Given the description of an element on the screen output the (x, y) to click on. 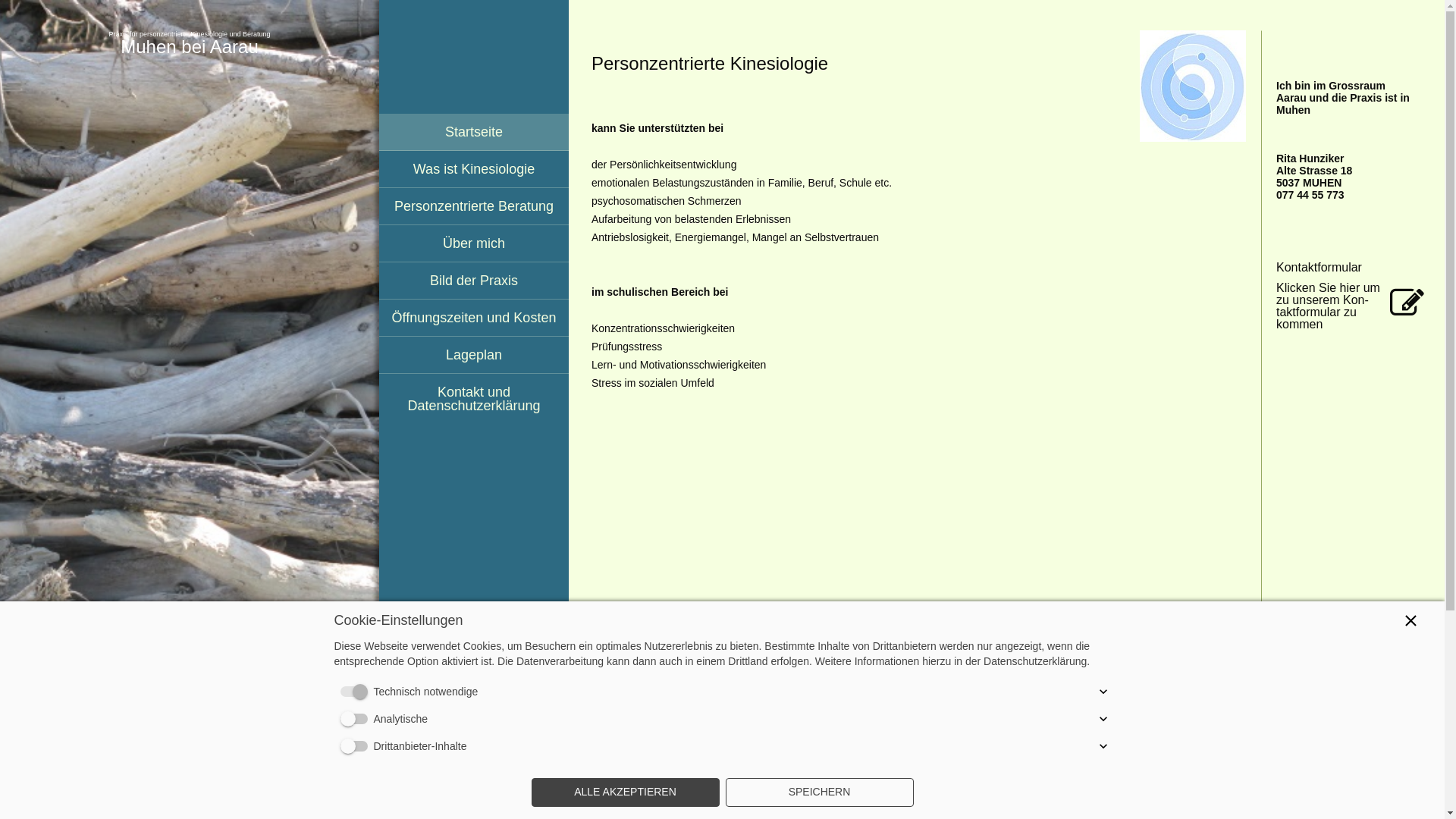
Lageplan Element type: text (473, 354)
ALLE AKZEPTIEREN Element type: text (624, 792)
Bild der Praxis Element type: text (473, 280)
Startseite Element type: text (473, 131)
SPEICHERN Element type: text (818, 792)
Was ist Kinesiologie Element type: text (473, 169)
Personzentrierte Beratung Element type: text (473, 206)
